Given the description of an element on the screen output the (x, y) to click on. 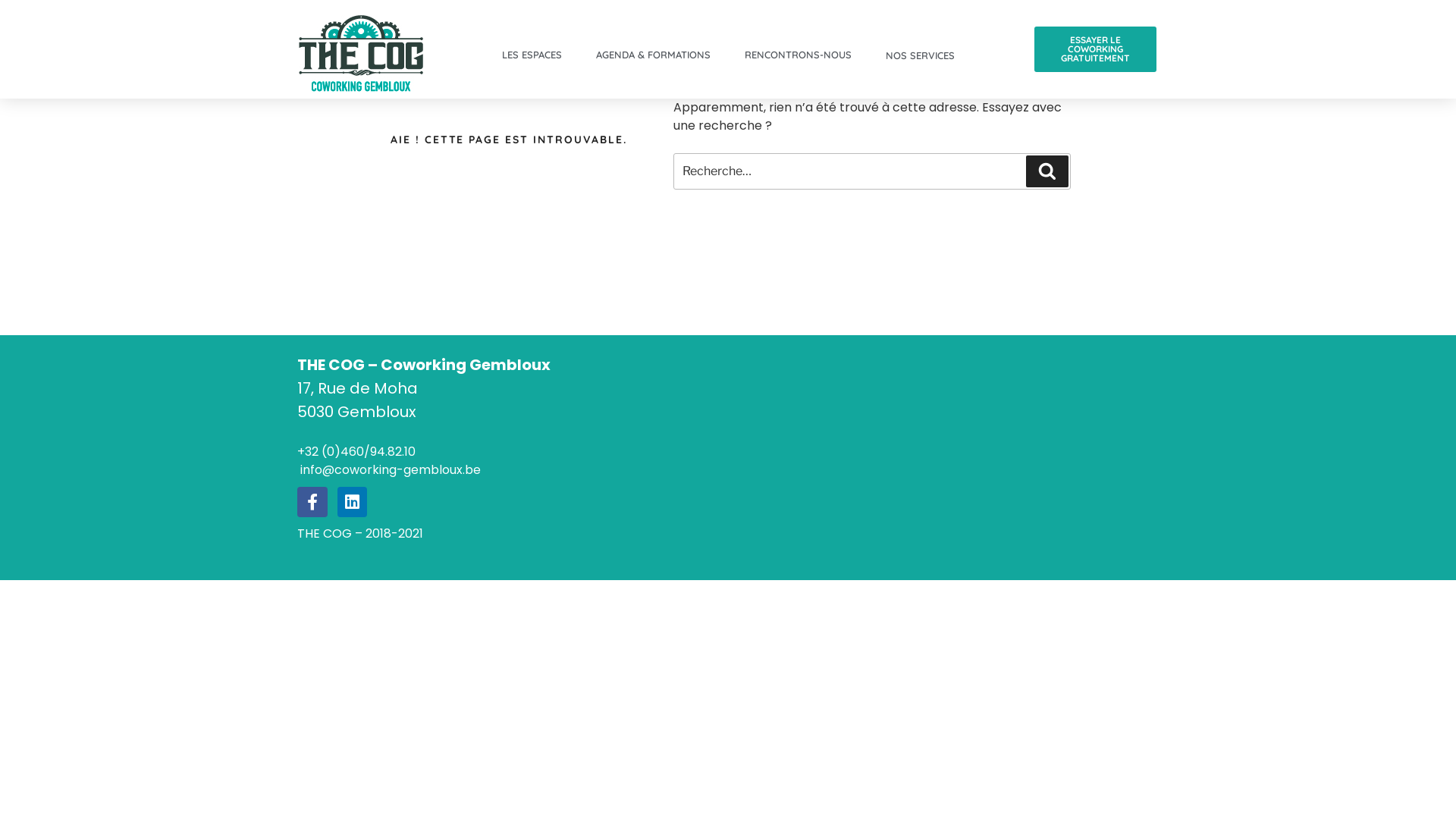
NOS SERVICES Element type: text (919, 54)
RENCONTRONS-NOUS Element type: text (797, 54)
LES ESPACES Element type: text (530, 54)
AGENDA & FORMATIONS Element type: text (652, 54)
 info@coworking-gembloux.be Element type: text (388, 469)
The COG Coworking gembloux Element type: hover (896, 457)
+32 (0)460/94.82.10 Element type: text (356, 451)
ESSAYER LE COWORKING GRATUITEMENT Element type: text (1095, 49)
